Given the description of an element on the screen output the (x, y) to click on. 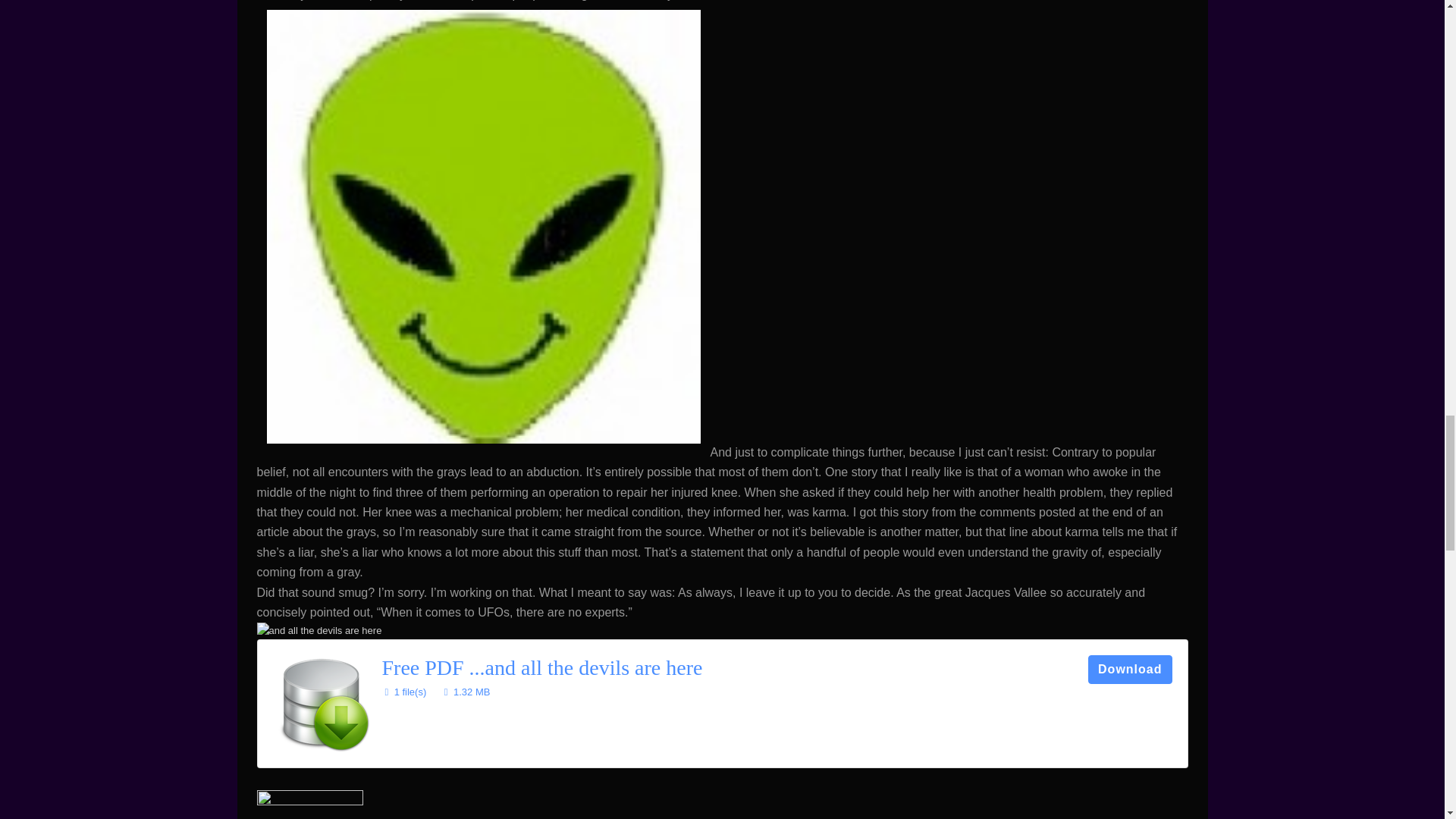
Free PDF ...and all the devils are here (542, 667)
Download (1129, 669)
